Given the description of an element on the screen output the (x, y) to click on. 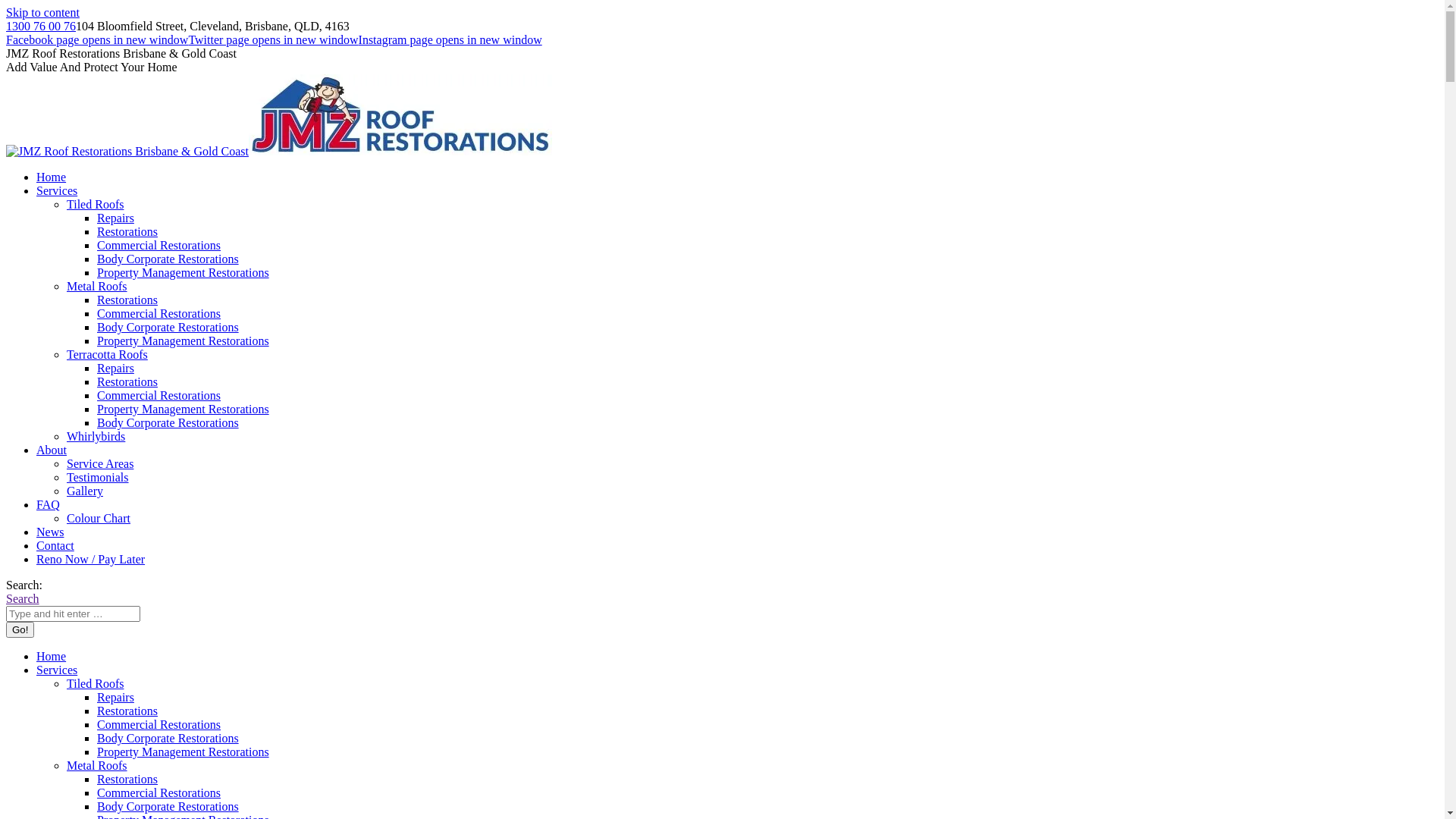
Body Corporate Restorations Element type: text (167, 326)
Services Element type: text (56, 669)
Tiled Roofs Element type: text (94, 683)
Repairs Element type: text (115, 367)
Commercial Restorations Element type: text (158, 395)
Colour Chart Element type: text (98, 517)
Restorations Element type: text (127, 778)
Body Corporate Restorations Element type: text (167, 806)
Service Areas Element type: text (99, 463)
Services Element type: text (56, 190)
Commercial Restorations Element type: text (158, 724)
Terracotta Roofs Element type: text (106, 354)
Property Management Restorations Element type: text (183, 272)
Restorations Element type: text (127, 231)
Go! Element type: text (20, 629)
Body Corporate Restorations Element type: text (167, 737)
Property Management Restorations Element type: text (183, 751)
Metal Roofs Element type: text (96, 285)
Twitter page opens in new window Element type: text (272, 39)
FAQ Element type: text (47, 504)
Search form Element type: hover (73, 613)
About Element type: text (51, 449)
1300 76 00 76 Element type: text (40, 25)
Search Element type: text (22, 598)
Commercial Restorations Element type: text (158, 313)
Body Corporate Restorations Element type: text (167, 258)
Facebook page opens in new window Element type: text (97, 39)
Property Management Restorations Element type: text (183, 340)
Testimonials Element type: text (97, 476)
Home Element type: text (50, 176)
Tiled Roofs Element type: text (94, 203)
Gallery Element type: text (84, 490)
Instagram page opens in new window Element type: text (450, 39)
Repairs Element type: text (115, 217)
Restorations Element type: text (127, 381)
Home Element type: text (50, 655)
Restorations Element type: text (127, 299)
Body Corporate Restorations Element type: text (167, 422)
Commercial Restorations Element type: text (158, 792)
Metal Roofs Element type: text (96, 765)
Commercial Restorations Element type: text (158, 244)
Skip to content Element type: text (42, 12)
Whirlybirds Element type: text (95, 435)
Contact Element type: text (55, 545)
Property Management Restorations Element type: text (183, 408)
Reno Now / Pay Later Element type: text (90, 558)
News Element type: text (49, 531)
Repairs Element type: text (115, 696)
Restorations Element type: text (127, 710)
